Given the description of an element on the screen output the (x, y) to click on. 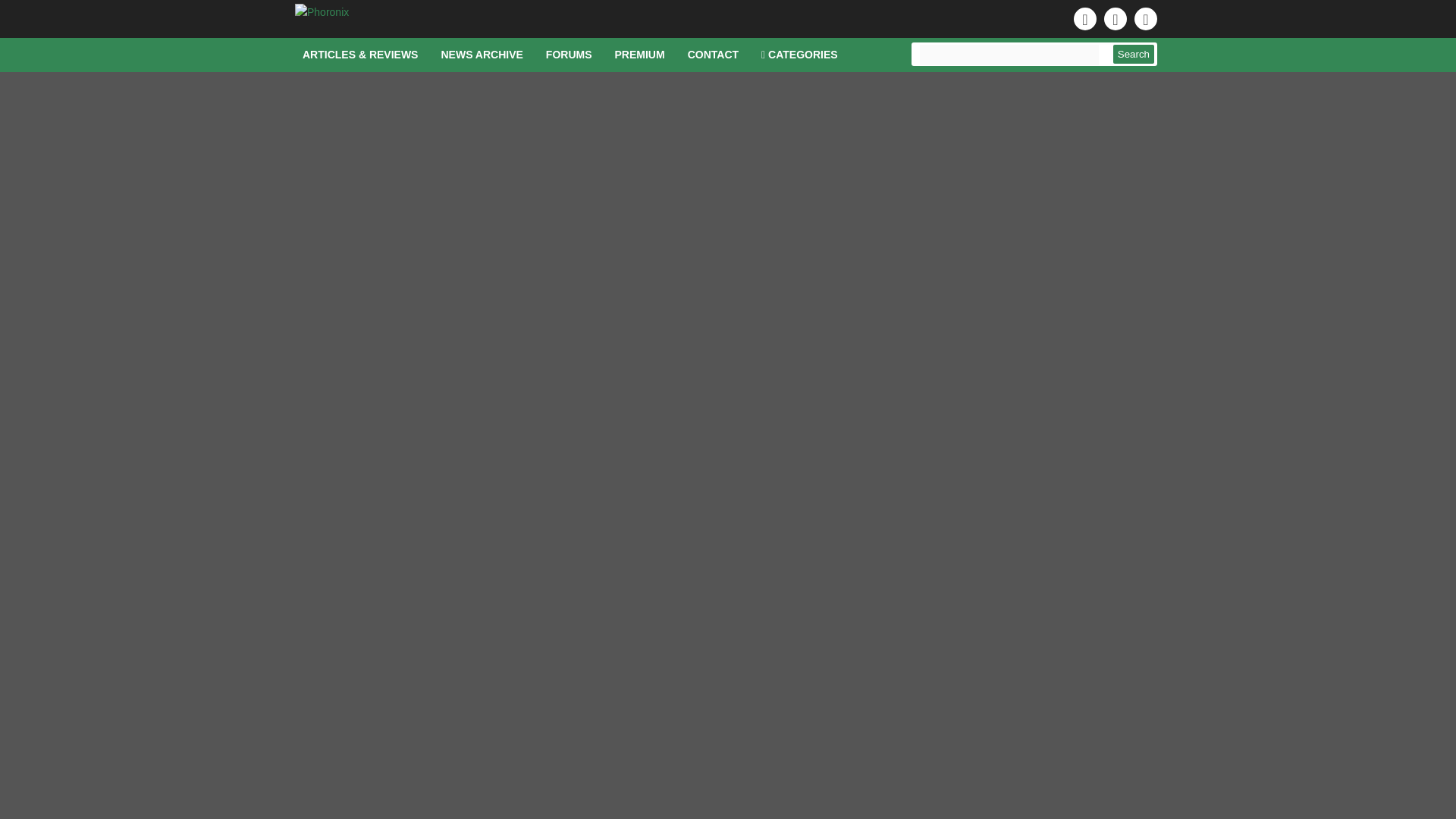
PREMIUM (640, 54)
CONTACT (713, 54)
FORUMS (569, 54)
NEWS ARCHIVE (481, 54)
Search (1133, 54)
Search (1133, 54)
